Given the description of an element on the screen output the (x, y) to click on. 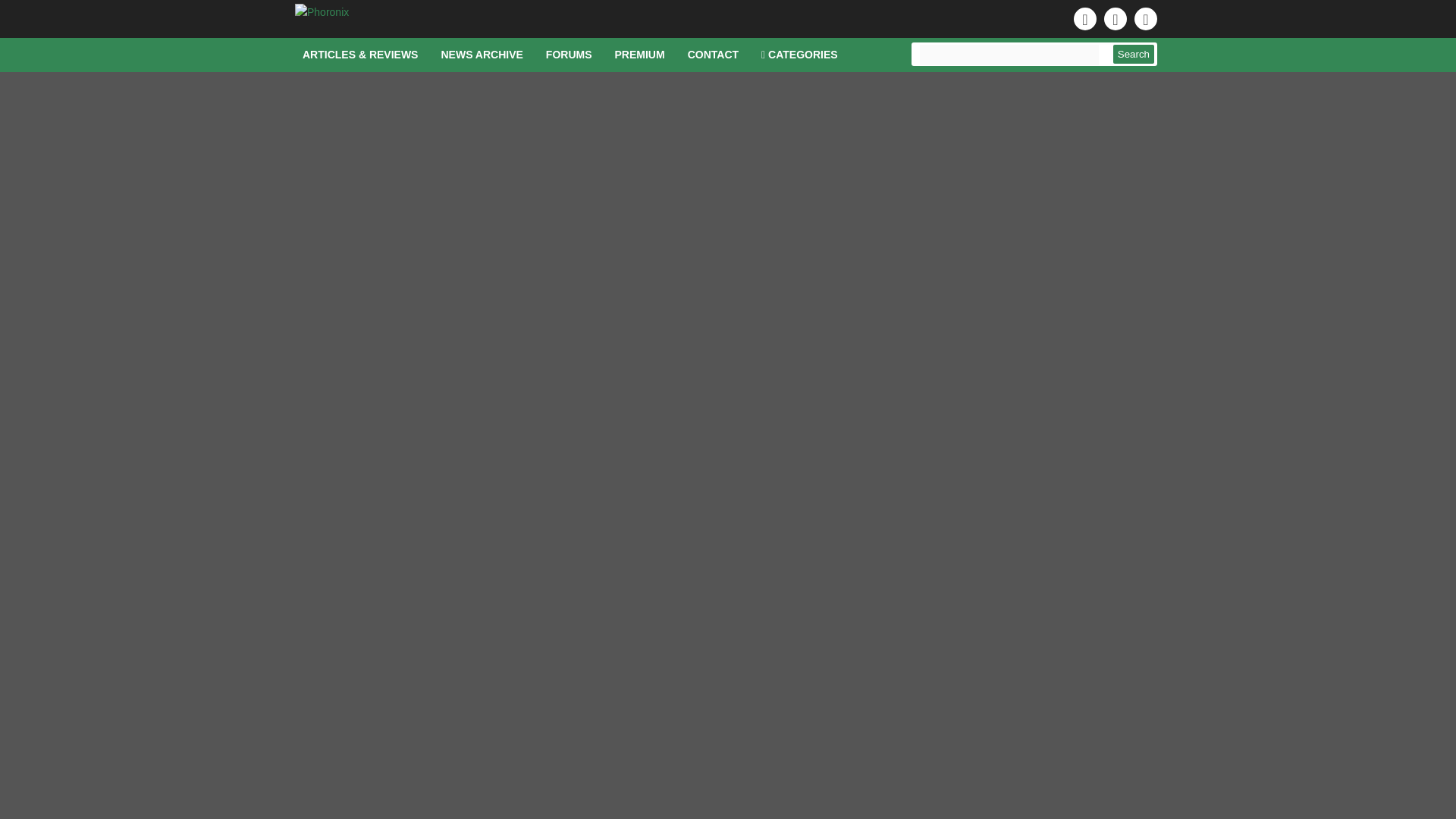
PREMIUM (640, 54)
CONTACT (713, 54)
FORUMS (569, 54)
NEWS ARCHIVE (481, 54)
Search (1133, 54)
Search (1133, 54)
